Given the description of an element on the screen output the (x, y) to click on. 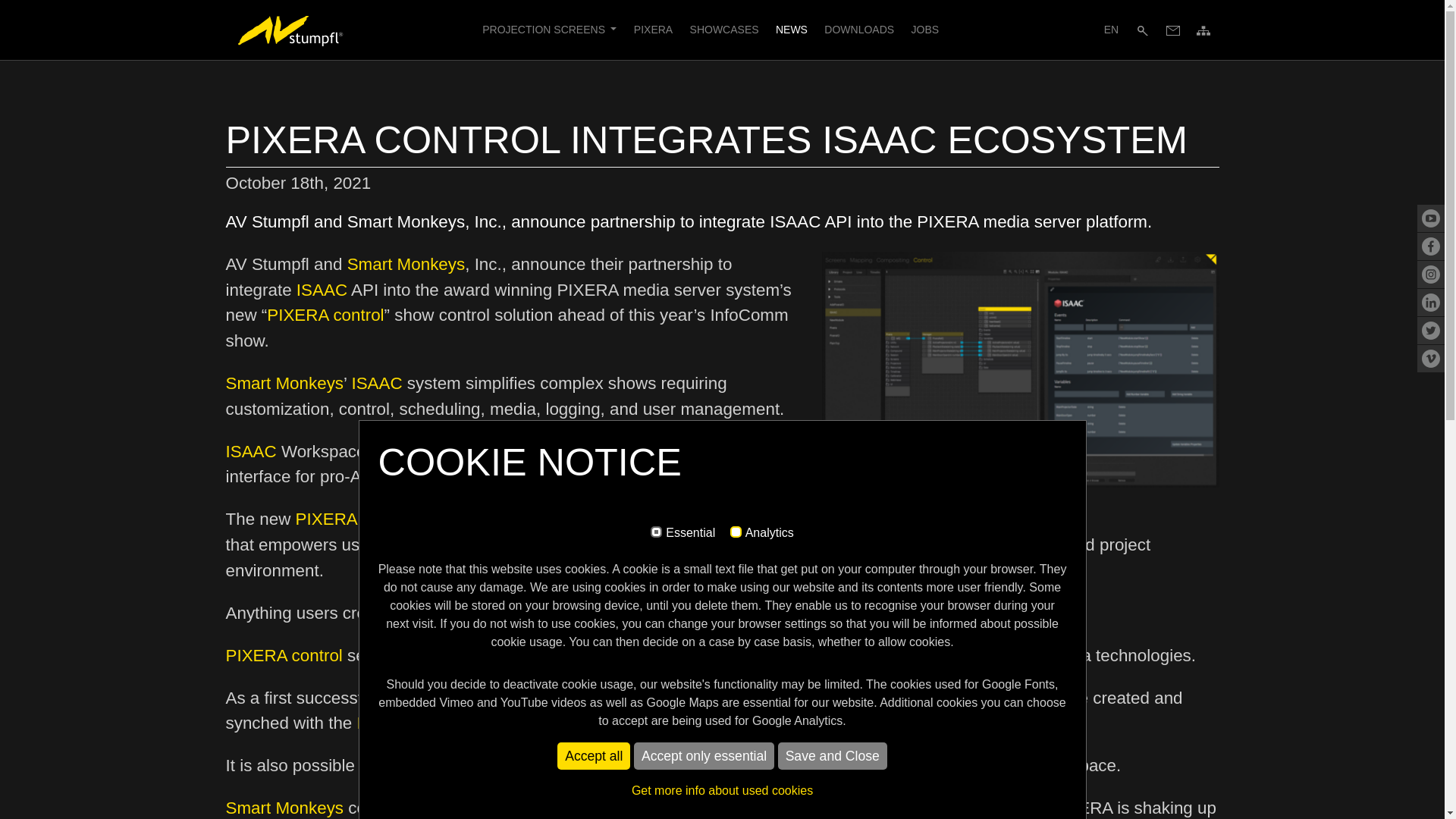
SHOWCASES (724, 29)
Projection Screens (550, 29)
PIXERA (653, 29)
NEWS (791, 29)
EN (1111, 29)
DOWNLOADS (858, 29)
PROJECTION SCREENS (550, 29)
JOBS (924, 29)
